Given the description of an element on the screen output the (x, y) to click on. 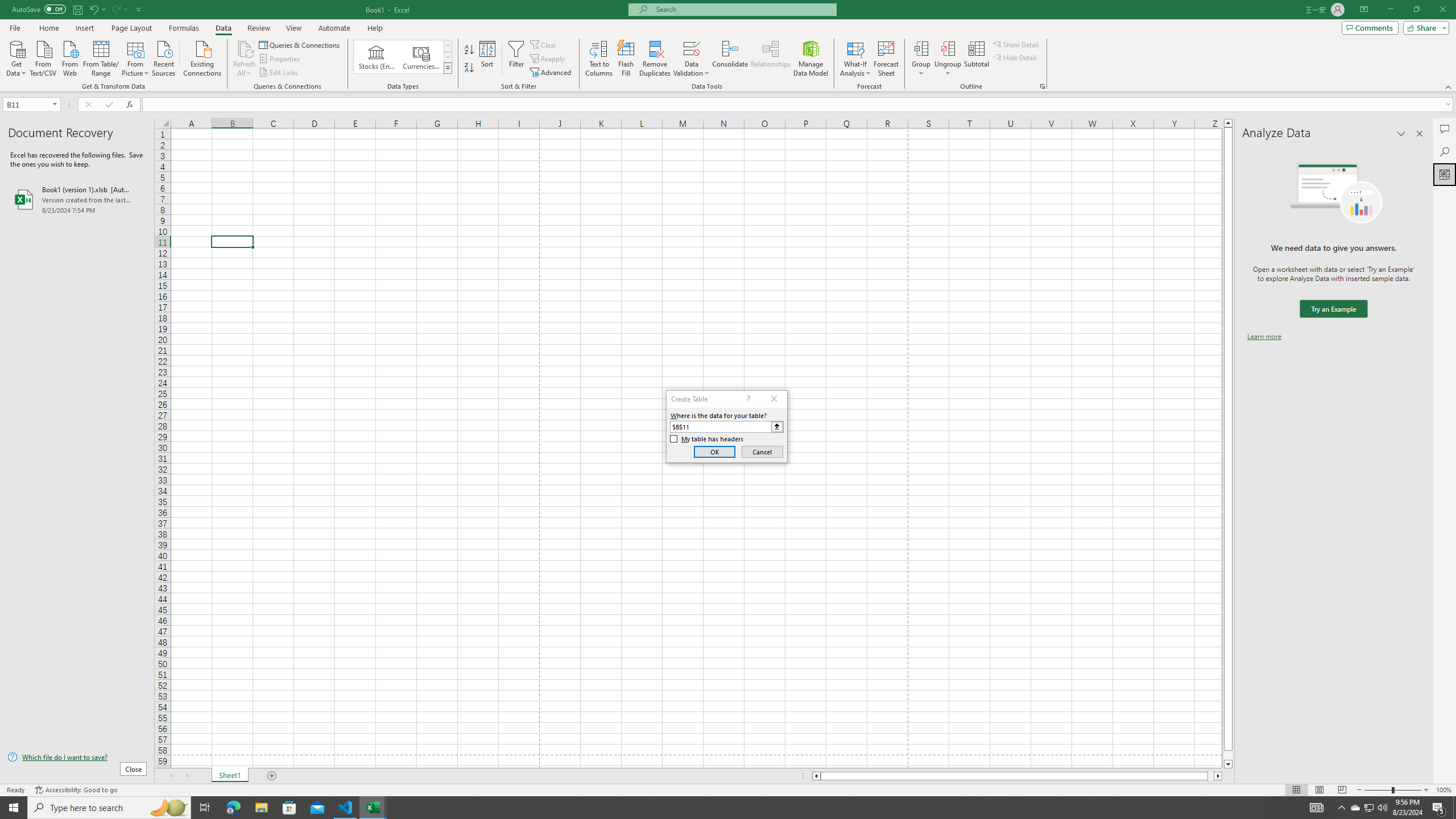
Advanced... (551, 72)
